Given the description of an element on the screen output the (x, y) to click on. 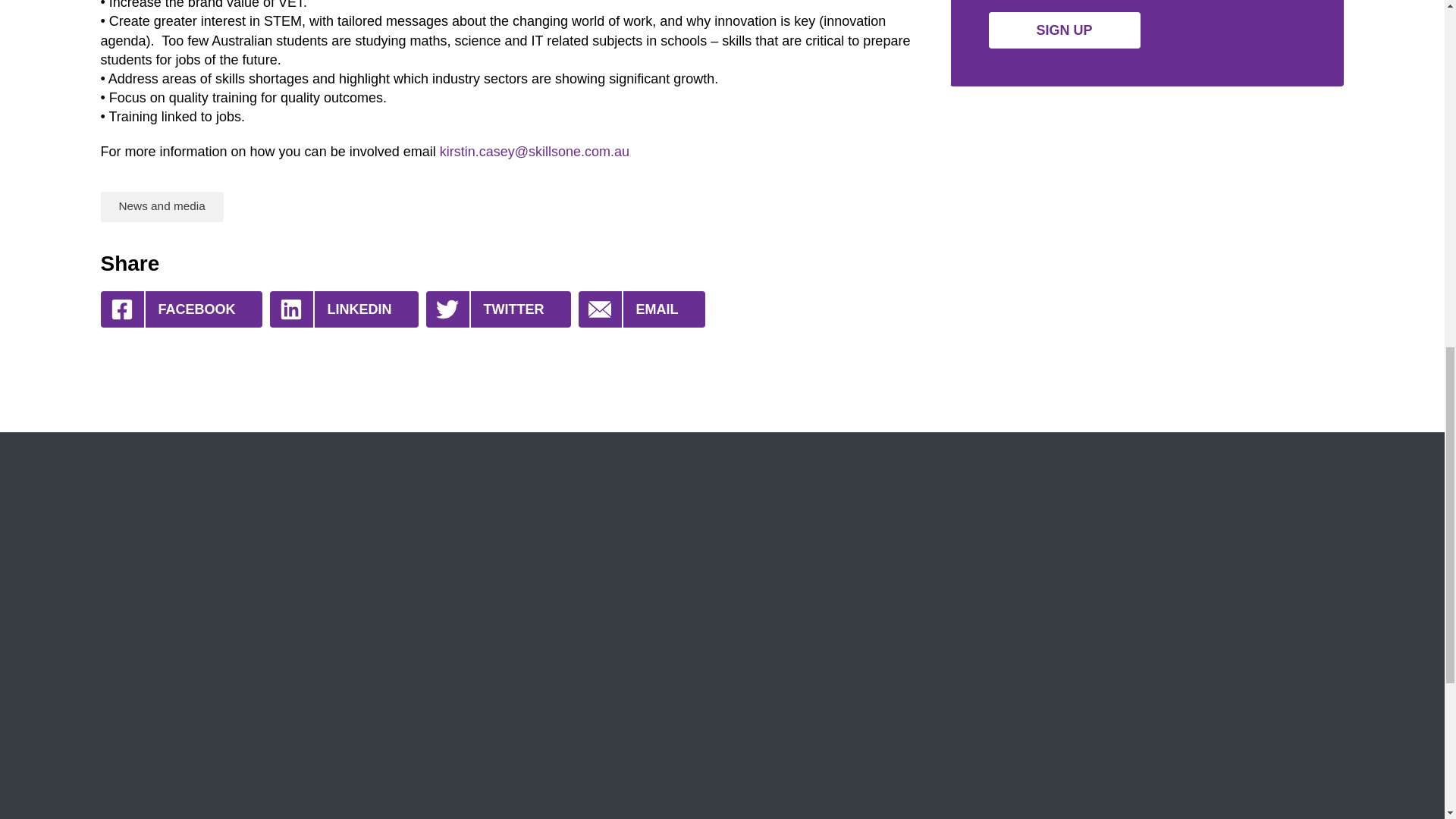
Share by Linkedin (344, 309)
LINKEDIN (344, 309)
Share by Email (641, 309)
Sign Up (1064, 30)
News and media (161, 206)
Share by Facebook (181, 309)
Share by Twitter (498, 309)
FACEBOOK (181, 309)
